Given the description of an element on the screen output the (x, y) to click on. 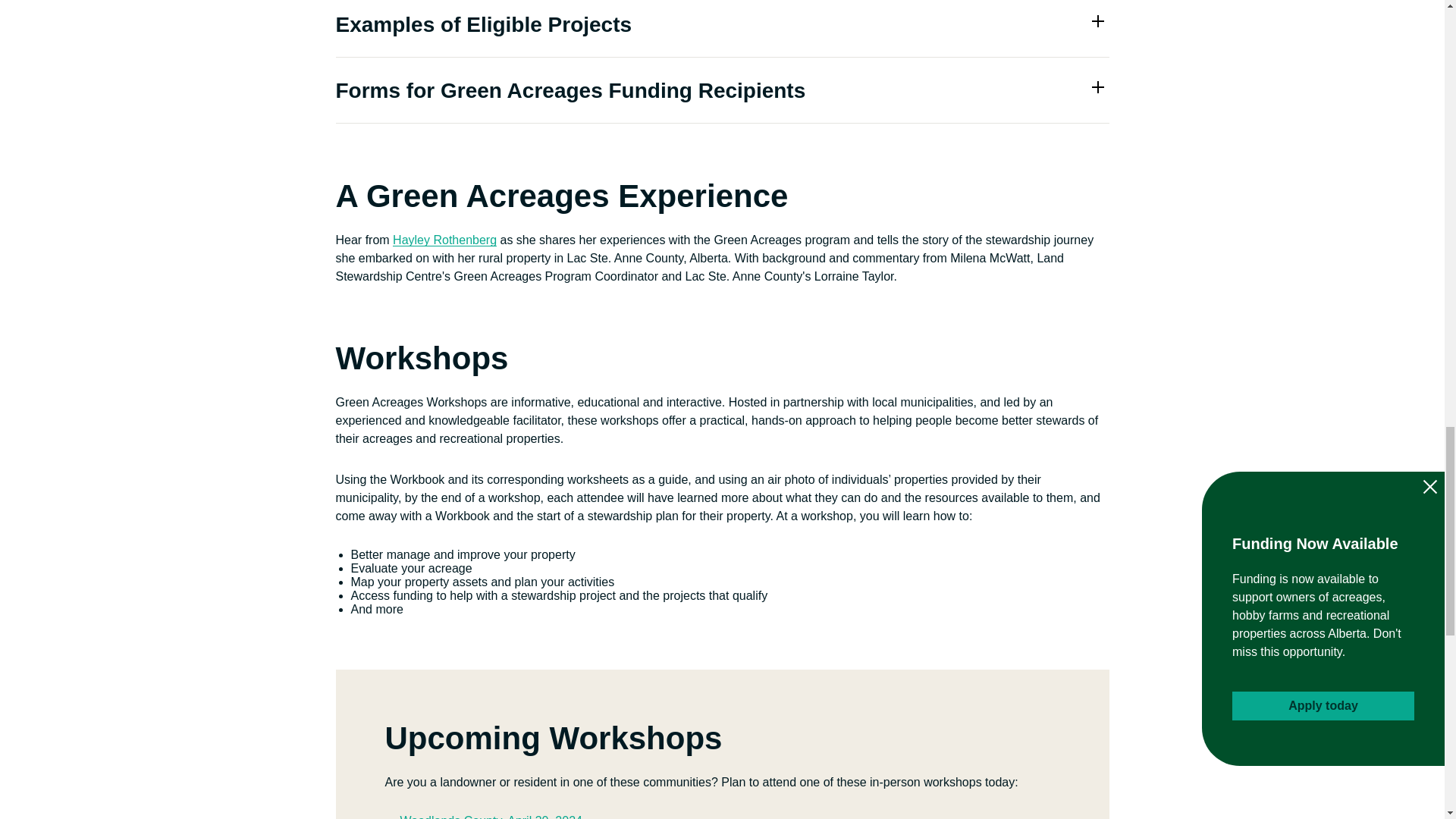
Hayley Rothenberg's stewardship journey with Green Acreages (444, 239)
Woodlands County, April 30, 2024 (491, 816)
